Given the description of an element on the screen output the (x, y) to click on. 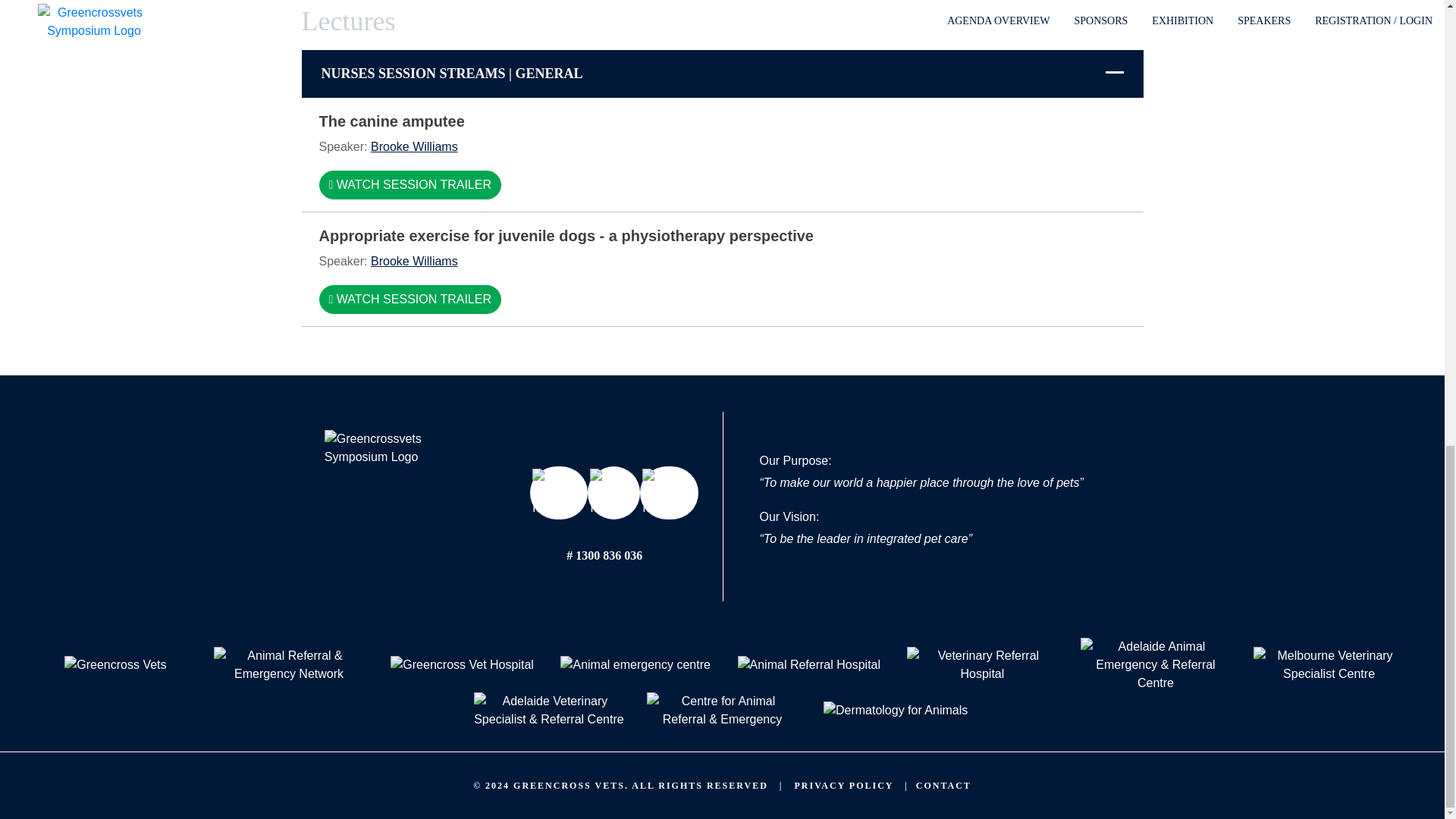
WATCH SESSION TRAILER (409, 299)
YouTube (614, 492)
CONTACT (943, 785)
Greencross Vets Symposium (391, 497)
Instagram (669, 492)
PRIVACY POLICY (843, 785)
WATCH SESSION TRAILER (409, 184)
Brooke Williams (414, 146)
Brooke Williams (414, 260)
Facebook (558, 492)
